Given the description of an element on the screen output the (x, y) to click on. 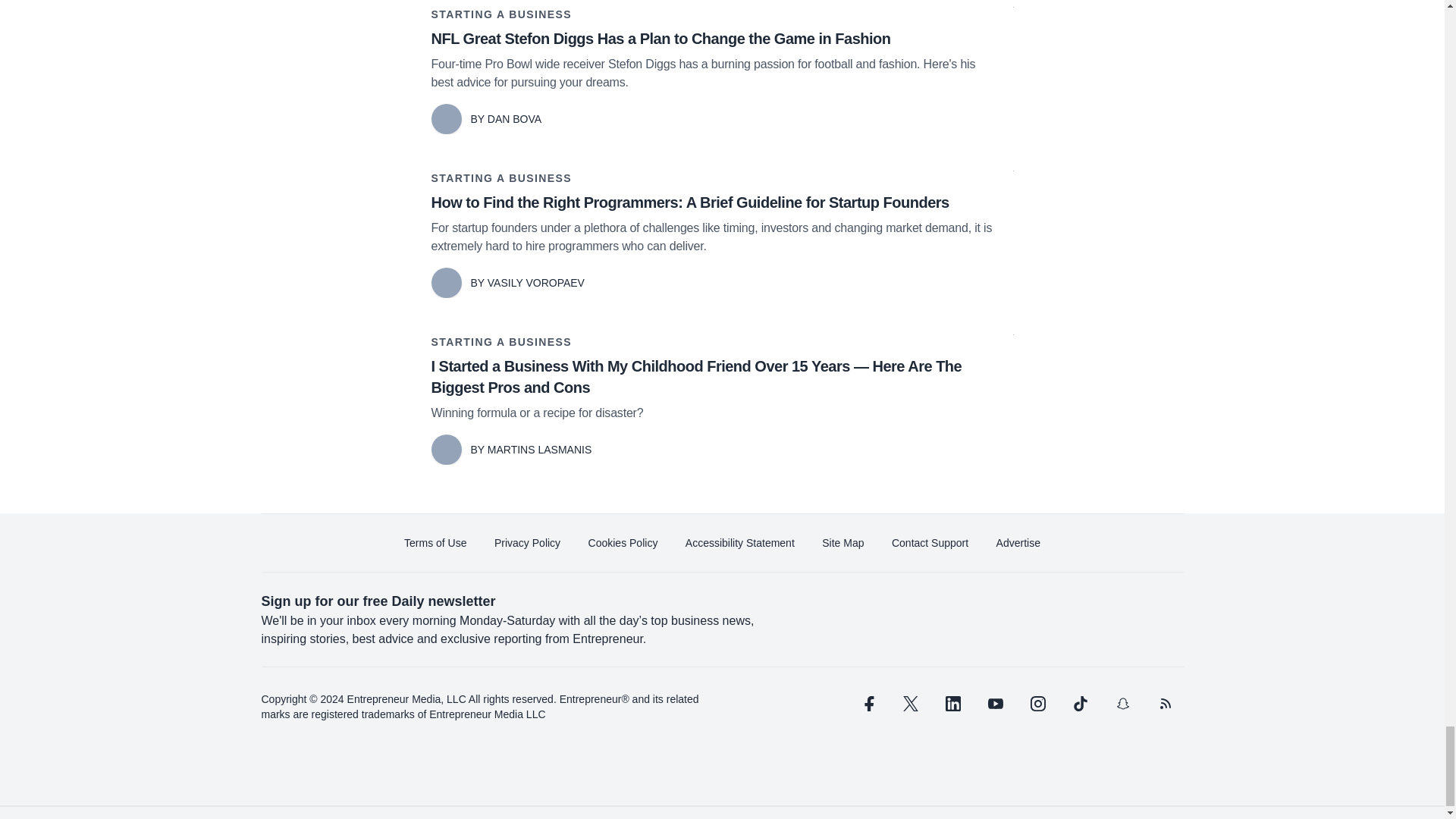
linkedin (952, 703)
twitter (909, 703)
tiktok (1079, 703)
facebook (866, 703)
snapchat (1121, 703)
youtube (994, 703)
instagram (1037, 703)
